Given the description of an element on the screen output the (x, y) to click on. 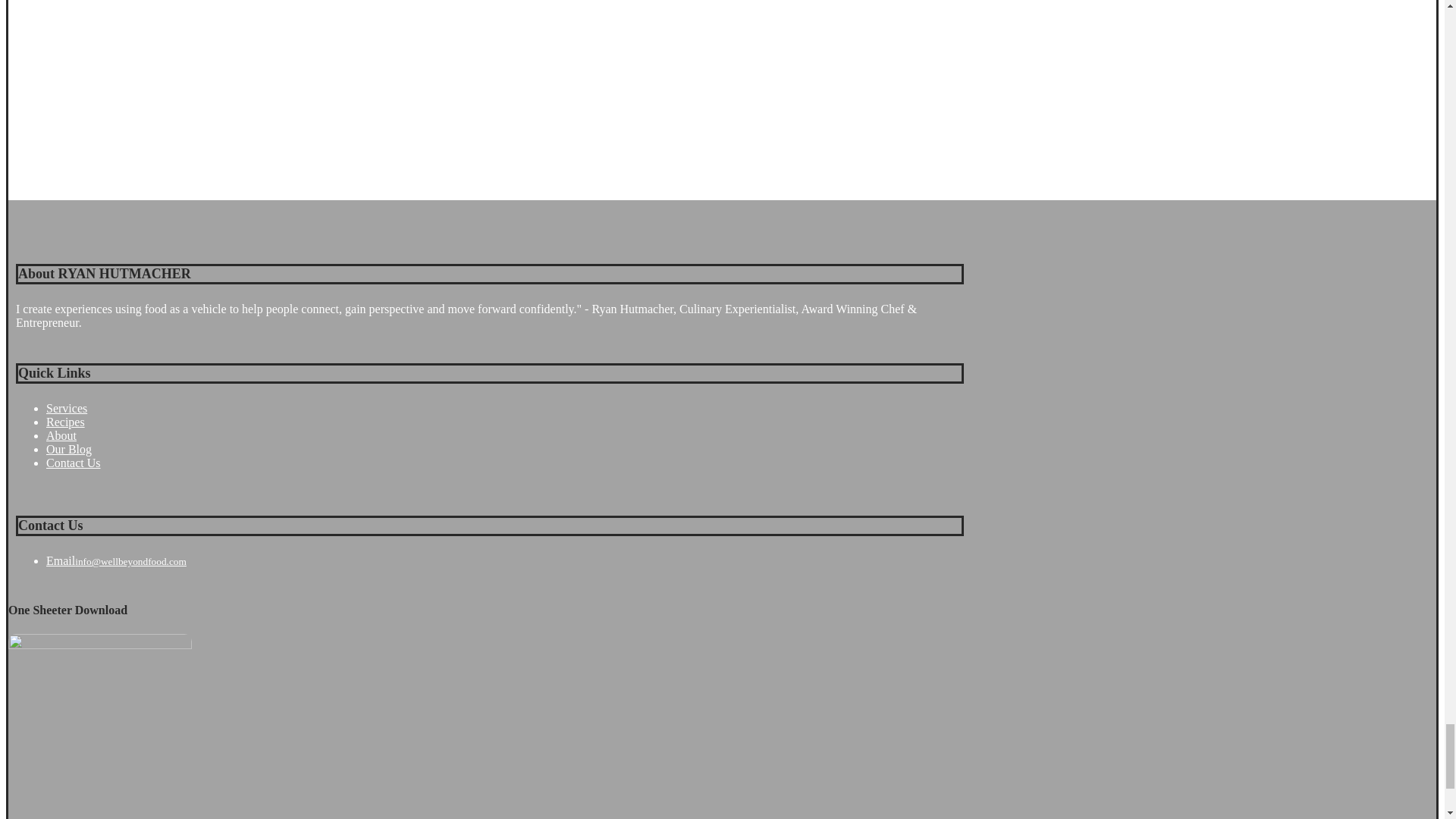
One Sheeter Download (100, 726)
About (504, 436)
Contact Us (504, 463)
Recipes (504, 422)
Our Blog (504, 449)
Services (504, 408)
